Given the description of an element on the screen output the (x, y) to click on. 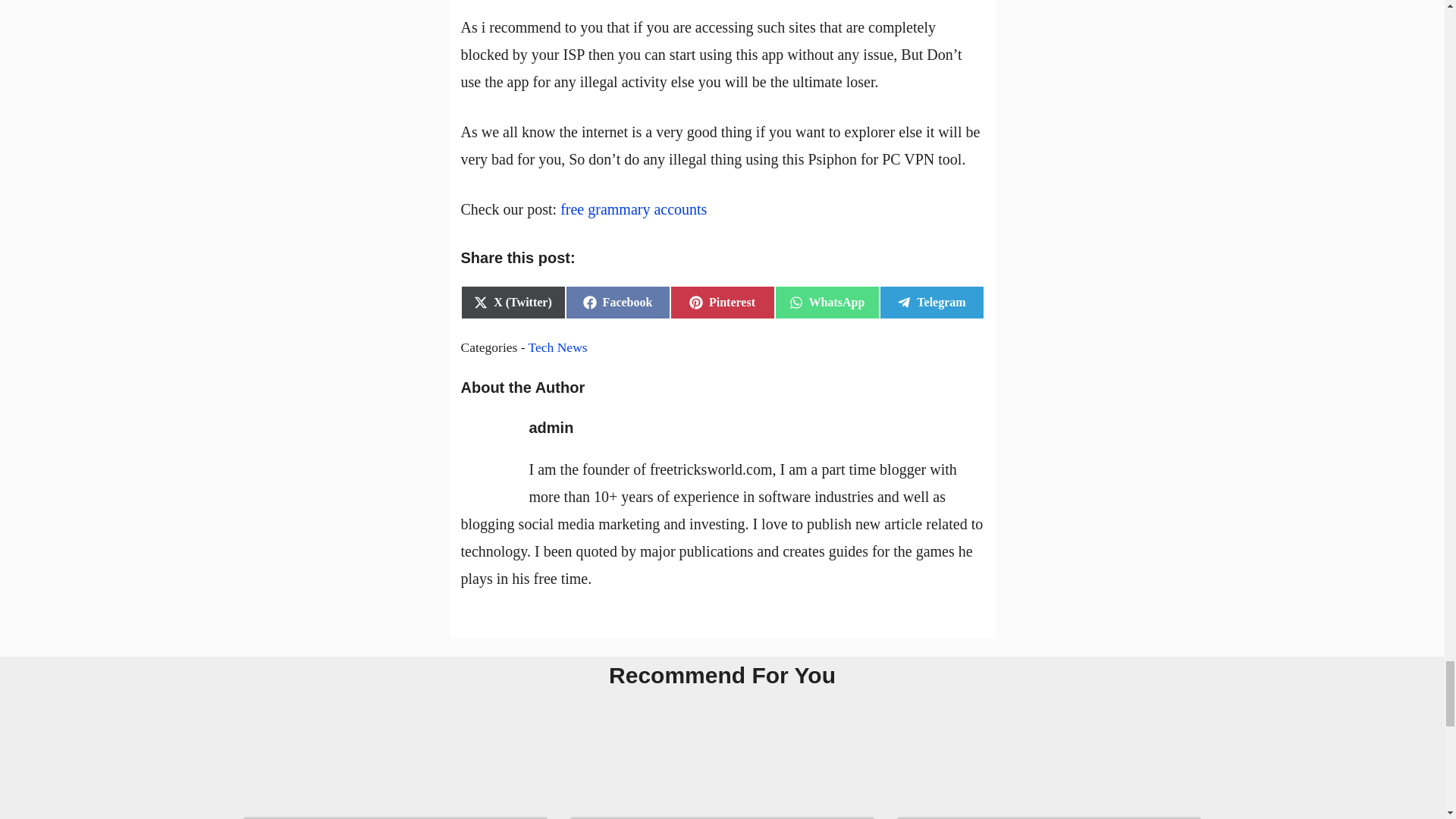
free grammary accounts (826, 302)
Tech News (931, 302)
